Given the description of an element on the screen output the (x, y) to click on. 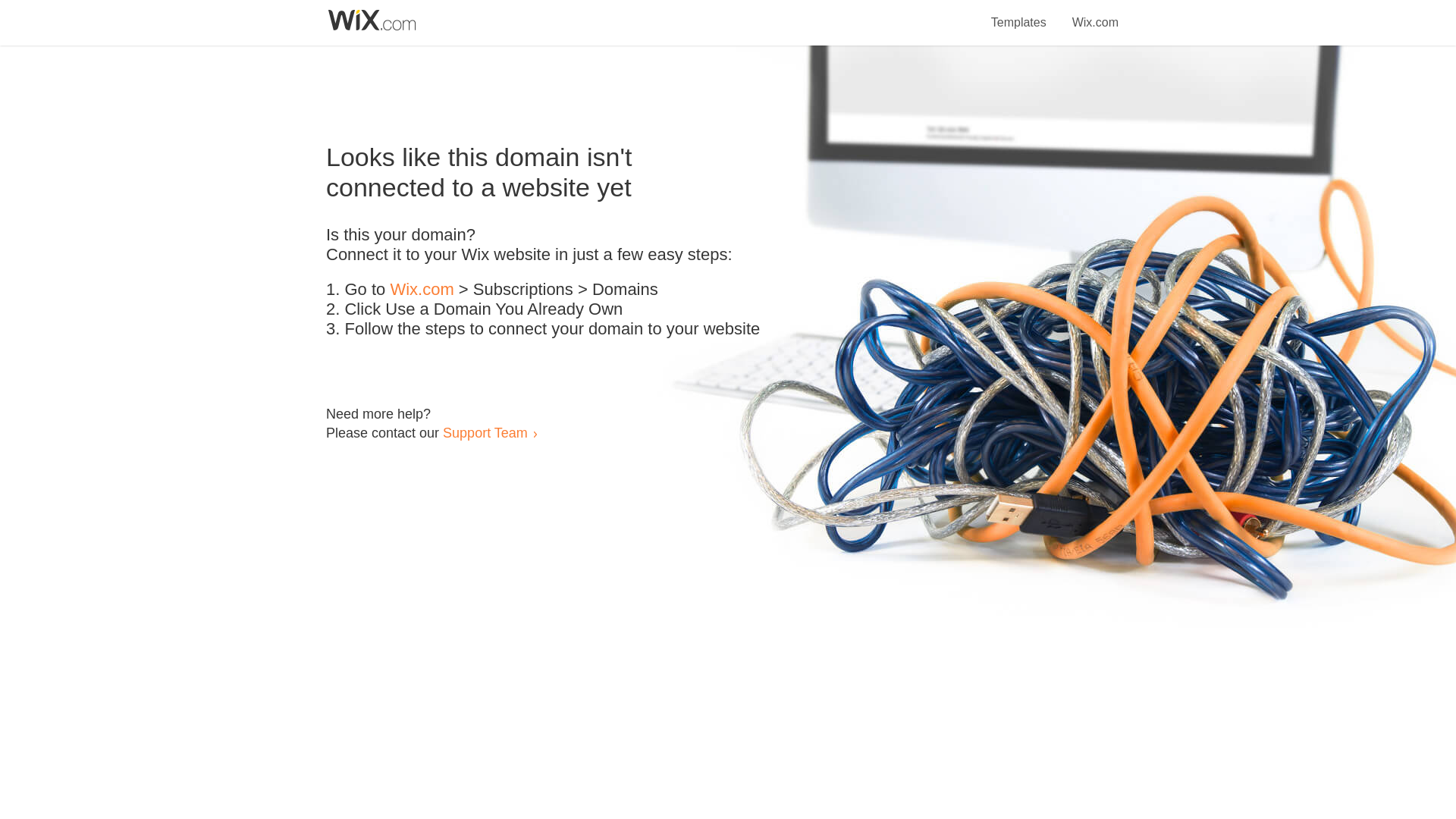
Wix.com (421, 289)
Wix.com (1095, 14)
Templates (1018, 14)
Support Team (484, 432)
